Given the description of an element on the screen output the (x, y) to click on. 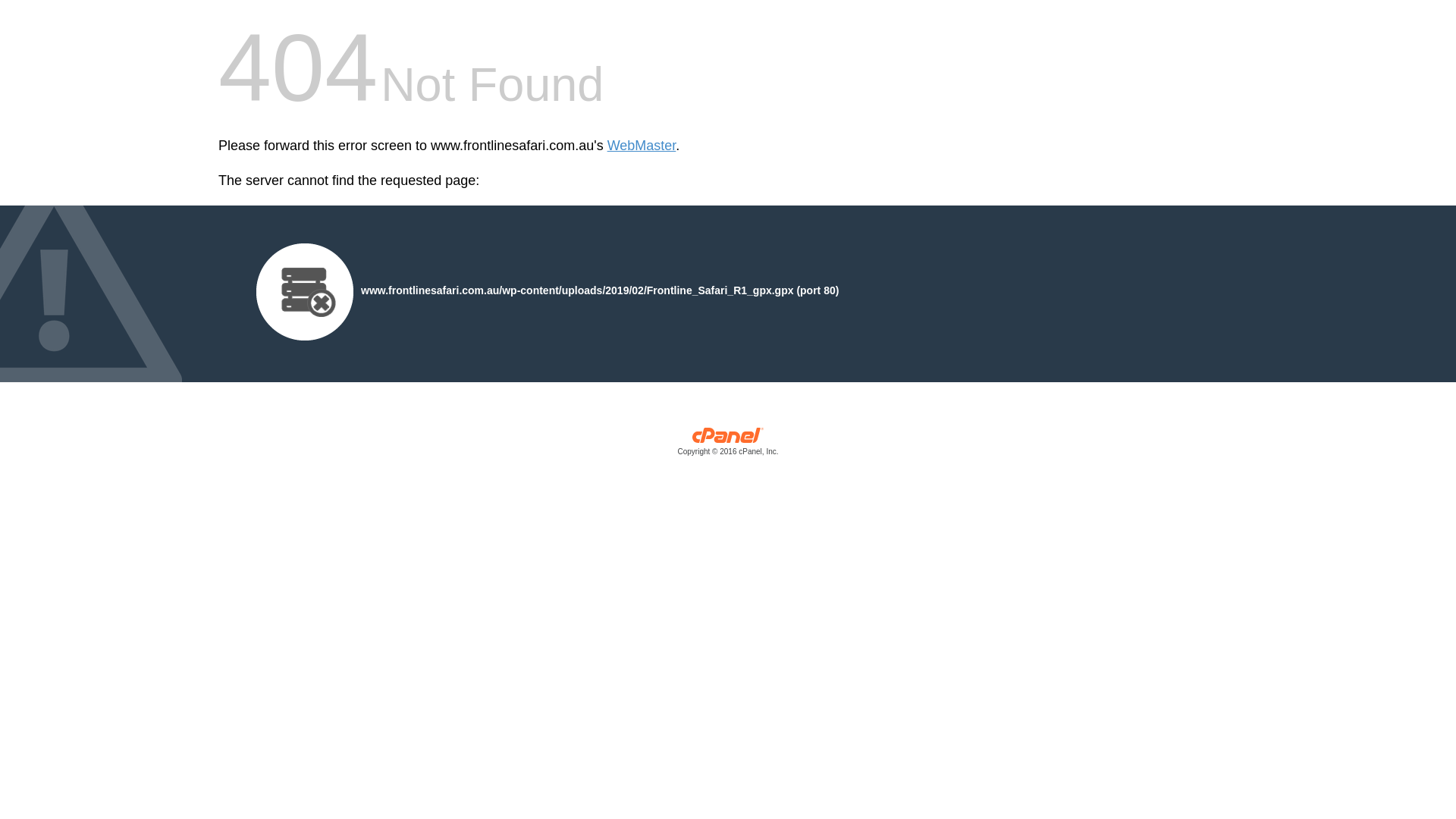
WebMaster Element type: text (641, 145)
